Given the description of an element on the screen output the (x, y) to click on. 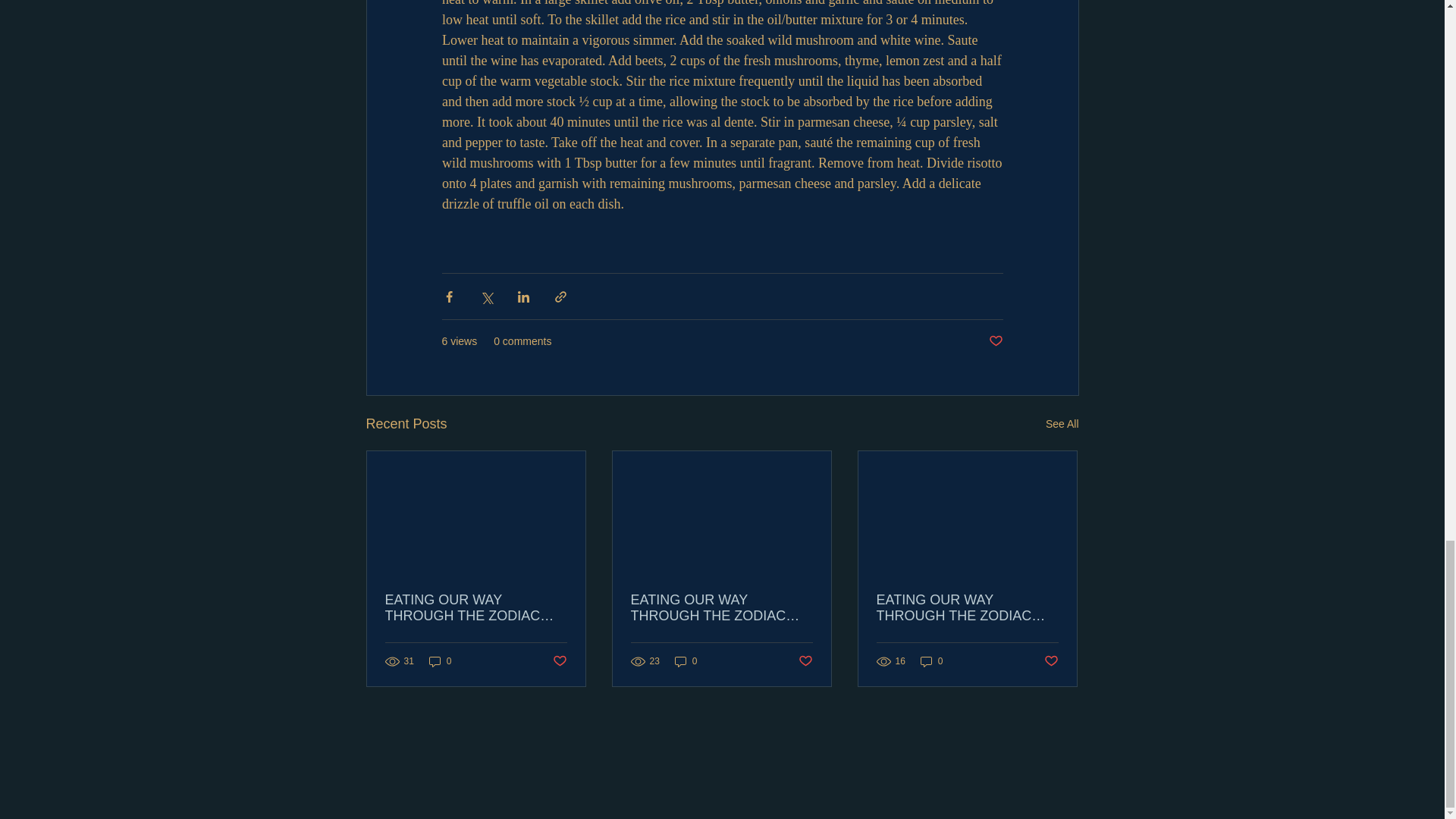
Post not marked as liked (1050, 661)
EATING OUR WAY THROUGH THE ZODIAC GEMINI 2019 (476, 608)
0 (685, 661)
EATING OUR WAY THROUGH THE ZODIAC TAURUS 2019 (721, 608)
See All (1061, 423)
Post not marked as liked (804, 661)
Post not marked as liked (558, 661)
0 (440, 661)
EATING OUR WAY THROUGH THE ZODIAC ARIES 2019 (967, 608)
Post not marked as liked (995, 341)
0 (931, 661)
